Given the description of an element on the screen output the (x, y) to click on. 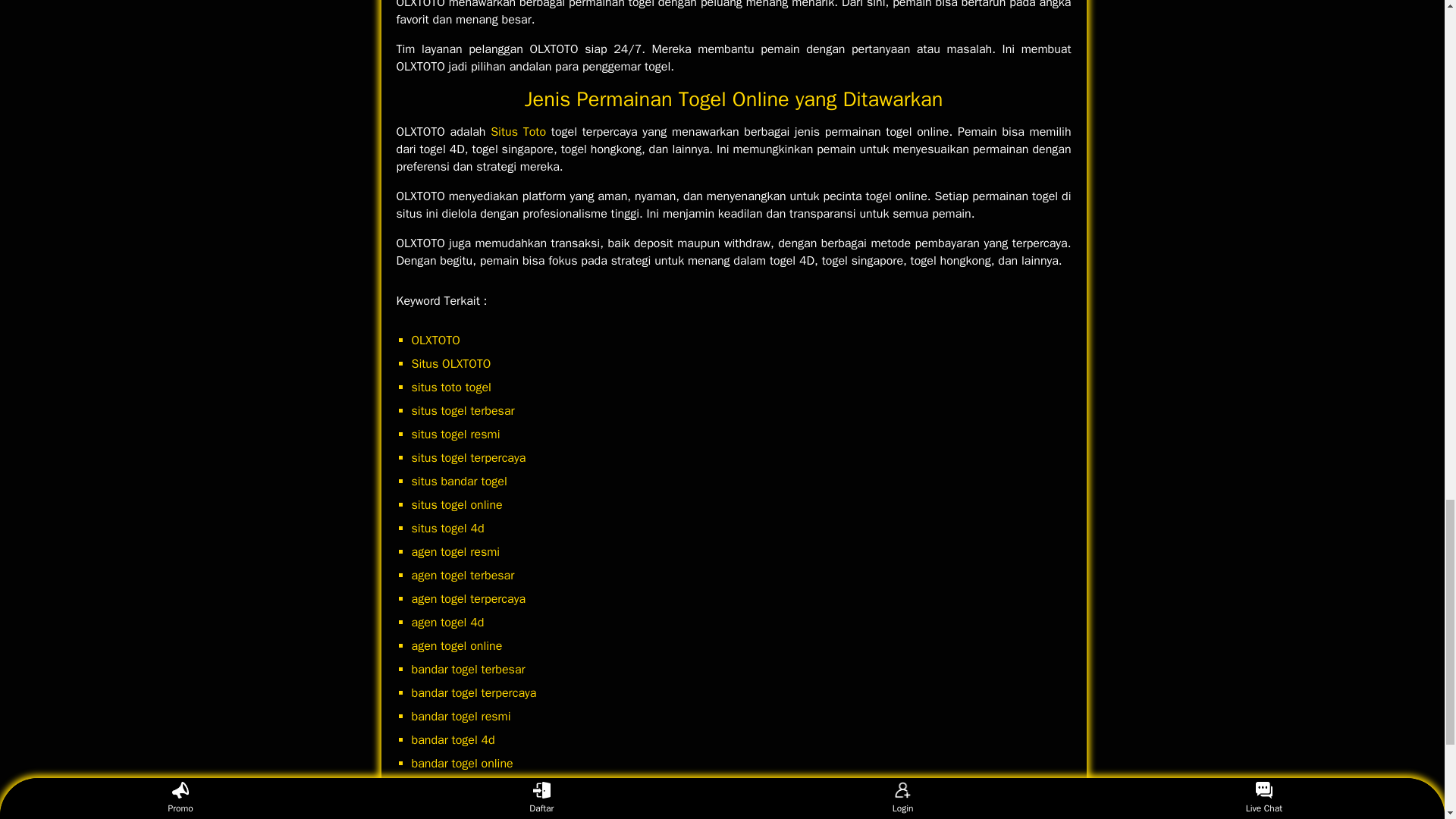
Situs Toto (518, 131)
Situs Toto (518, 131)
